Given the description of an element on the screen output the (x, y) to click on. 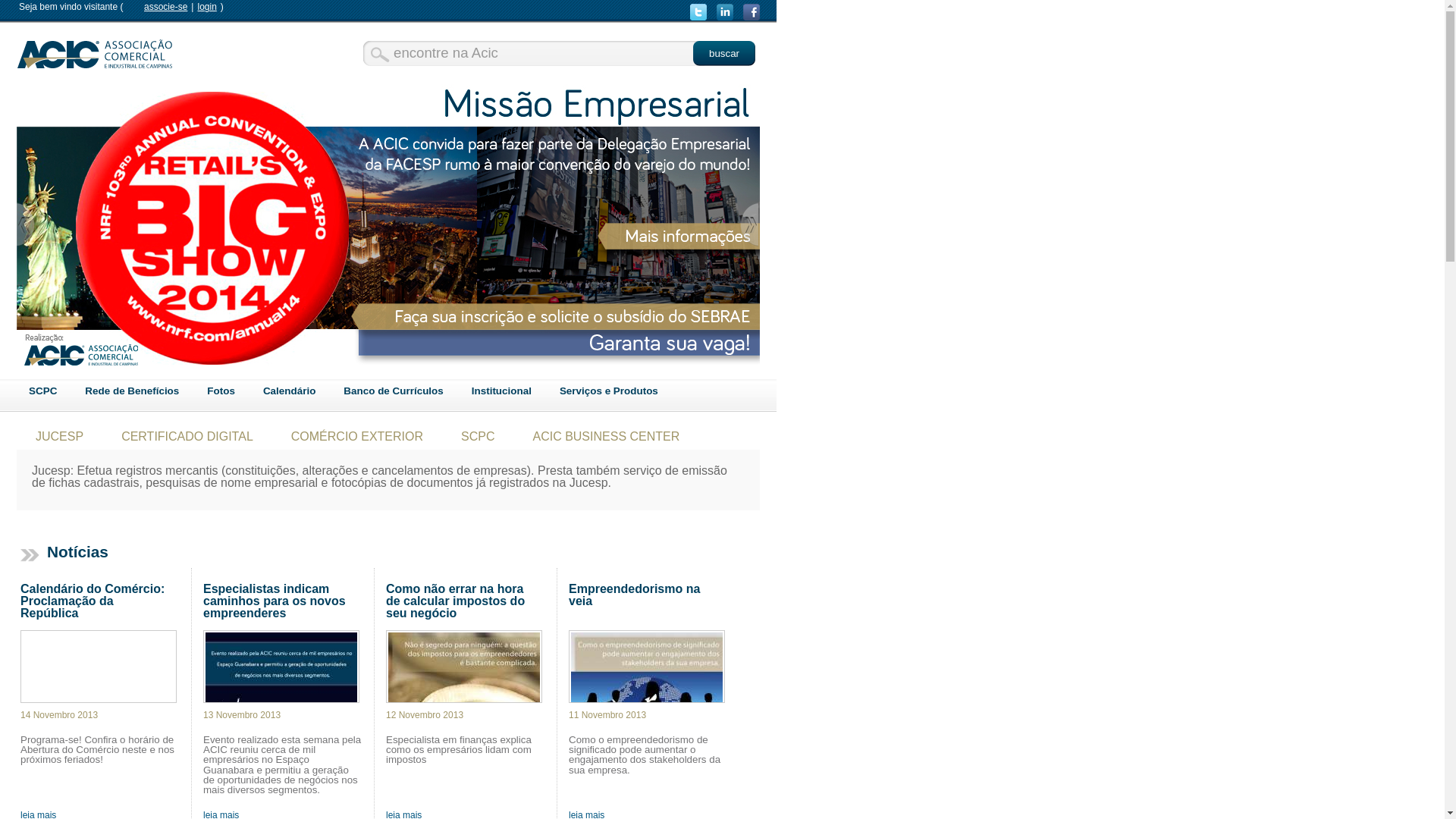
Institucional Element type: text (501, 390)
LinkedIn Element type: hover (725, 12)
CERTIFICADO DIGITAL Element type: text (187, 435)
SCPC Element type: text (42, 390)
ACIC BUSINESS CENTER Element type: text (605, 435)
SCPC Element type: text (477, 435)
JUCESP Element type: text (59, 435)
associe-se Element type: text (165, 6)
Fotos Element type: text (220, 390)
login Element type: text (206, 6)
Twitter Element type: hover (698, 12)
Facebook Element type: hover (751, 12)
